Given the description of an element on the screen output the (x, y) to click on. 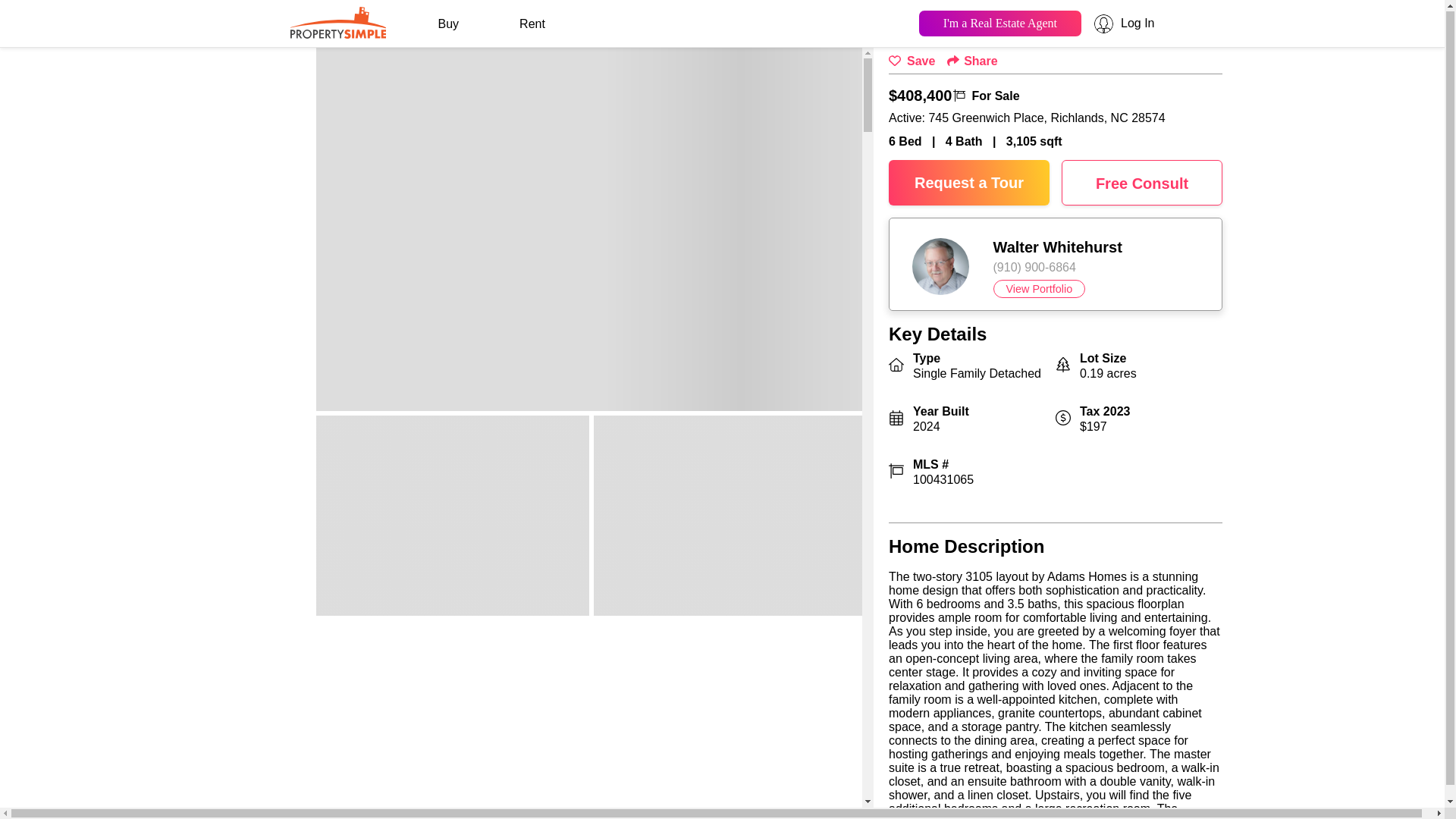
Free Consult (1142, 182)
Request a Tour (968, 182)
Rent (532, 23)
PropertySimple's Logo (337, 32)
Buy (448, 23)
View Portfolio (1039, 289)
I'm a Real Estate Agent (999, 22)
PropertySimple's Logo (337, 20)
